Given the description of an element on the screen output the (x, y) to click on. 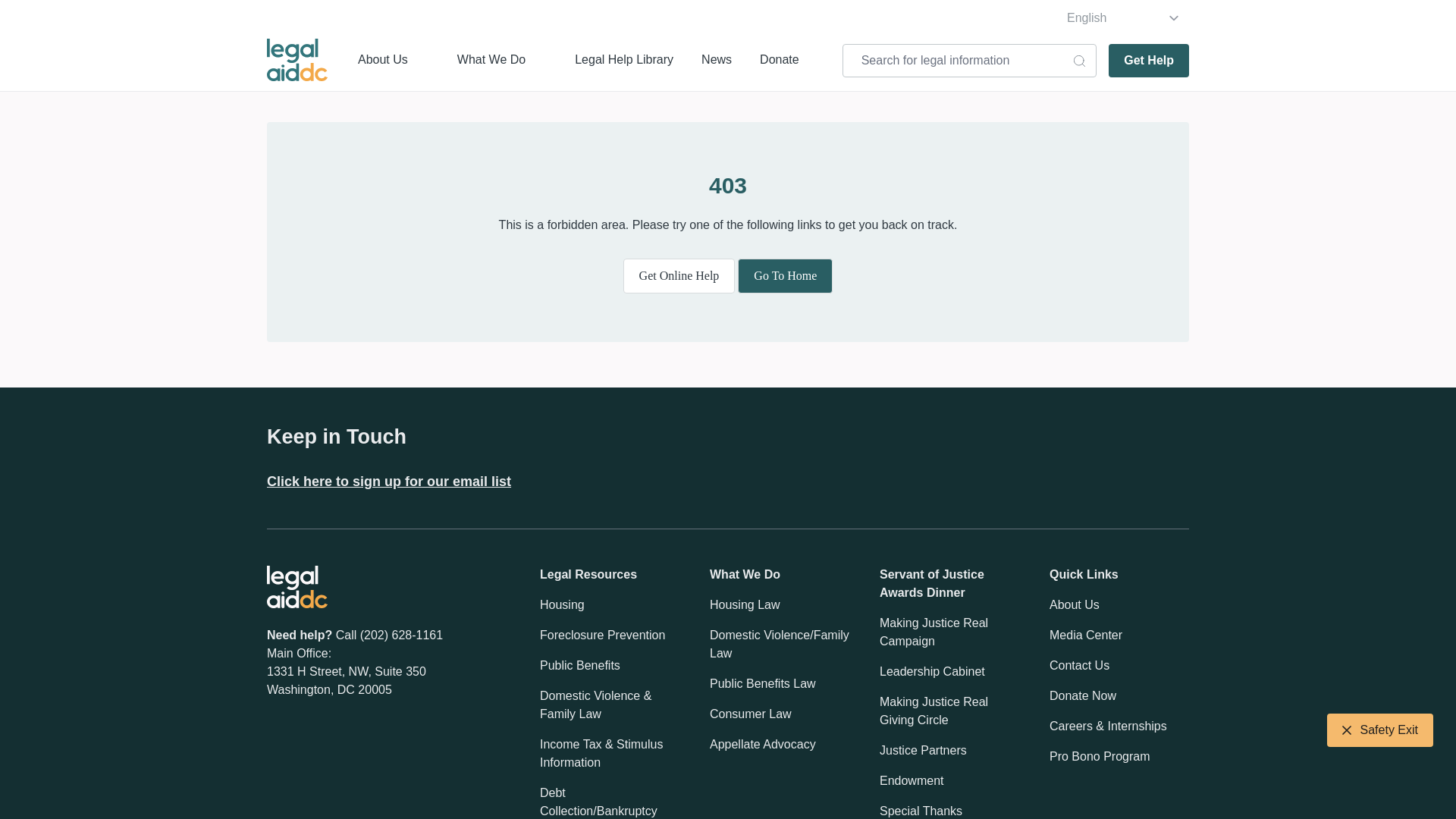
Get Help (1148, 60)
Apply (25, 15)
About Us (382, 59)
Get Online Help (679, 275)
About Us (382, 59)
What We Do (491, 59)
Click here to sign up for our email list (388, 481)
menu arrow (418, 59)
Donate (779, 59)
Go To Home (785, 275)
Foreclosure Prevention (602, 635)
News (716, 59)
What We Do (491, 59)
Legal Help Library (623, 59)
Public Benefits (580, 665)
